Given the description of an element on the screen output the (x, y) to click on. 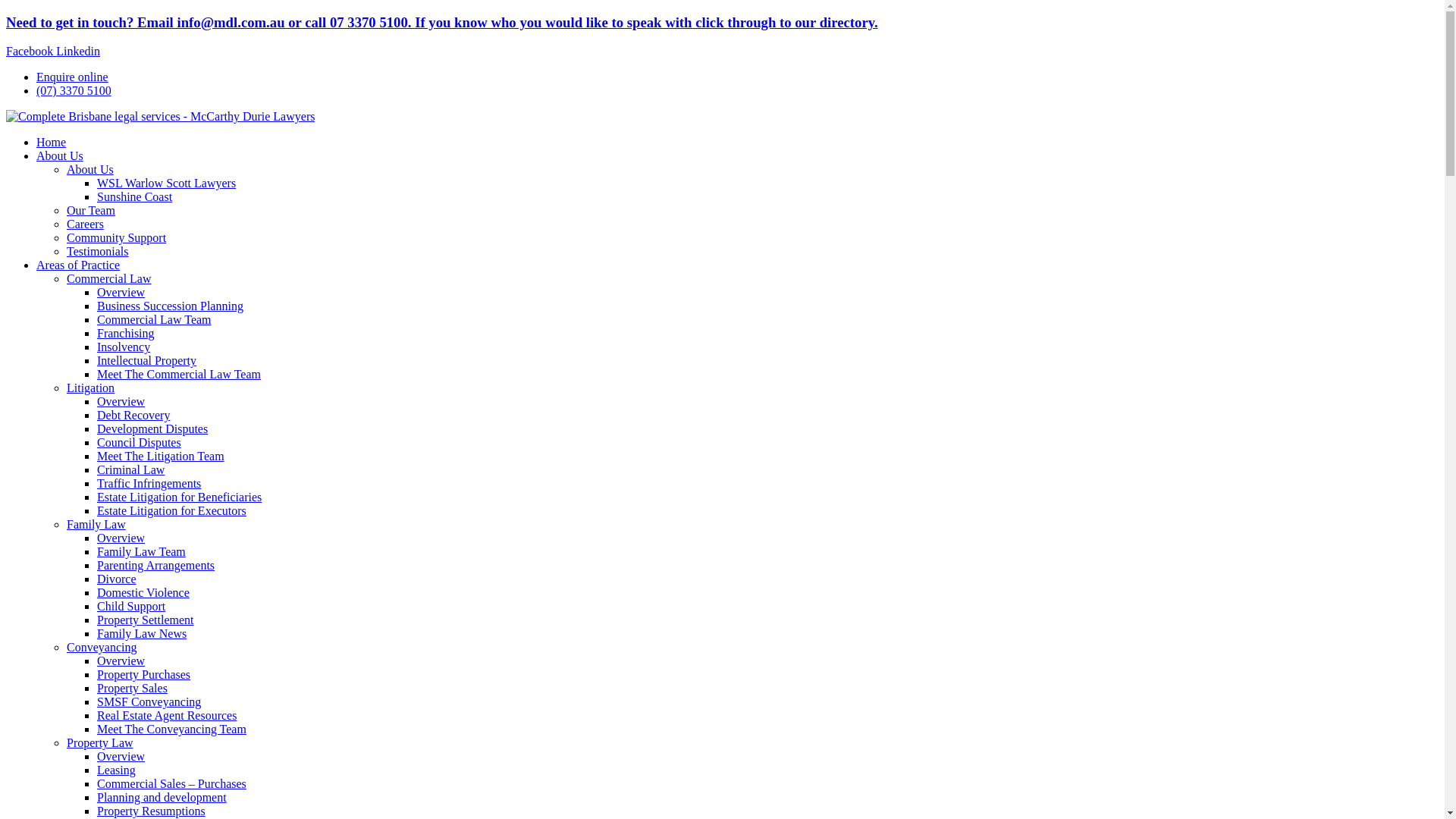
Business Succession Planning Element type: text (170, 305)
Enquire online Element type: text (72, 76)
Traffic Infringements Element type: text (148, 482)
Real Estate Agent Resources Element type: text (166, 715)
Planning and development Element type: text (161, 796)
Testimonials Element type: text (97, 250)
SMSF Conveyancing Element type: text (148, 701)
Child Support Element type: text (131, 605)
Our Team Element type: text (90, 209)
Criminal Law Element type: text (130, 469)
Family Law Element type: text (95, 523)
Domestic Violence Element type: text (143, 592)
Overview Element type: text (120, 401)
Overview Element type: text (120, 755)
WSL Warlow Scott Lawyers Element type: text (166, 182)
Overview Element type: text (120, 291)
Property Sales Element type: text (132, 687)
Sunshine Coast Element type: text (134, 196)
Property Resumptions Element type: text (151, 810)
Property Law Element type: text (99, 742)
About Us Element type: text (59, 155)
Commercial Law Team Element type: text (154, 319)
Divorce Element type: text (116, 578)
Overview Element type: text (120, 537)
Commercial Law Element type: text (108, 278)
Linkedin Element type: text (78, 50)
Property Settlement Element type: text (145, 619)
(07) 3370 5100 Element type: text (73, 90)
Areas of Practice Element type: text (77, 264)
Parenting Arrangements Element type: text (155, 564)
Overview Element type: text (120, 660)
Conveyancing Element type: text (101, 646)
Meet The Conveyancing Team Element type: text (171, 728)
About Us Element type: text (89, 169)
Litigation Element type: text (90, 387)
Insolvency Element type: text (123, 346)
Property Purchases Element type: text (143, 674)
Franchising Element type: text (125, 332)
Meet The Litigation Team Element type: text (160, 455)
Estate Litigation for Beneficiaries Element type: text (179, 496)
Debt Recovery Element type: text (133, 414)
Careers Element type: text (84, 223)
Facebook Element type: text (31, 50)
Meet The Commercial Law Team Element type: text (178, 373)
Family Law News Element type: text (141, 633)
Estate Litigation for Executors Element type: text (171, 510)
Council Disputes Element type: text (139, 442)
Family Law Team Element type: text (141, 551)
Leasing Element type: text (116, 769)
Community Support Element type: text (116, 237)
Development Disputes Element type: text (152, 428)
Intellectual Property Element type: text (146, 360)
Home Element type: text (50, 141)
